Given the description of an element on the screen output the (x, y) to click on. 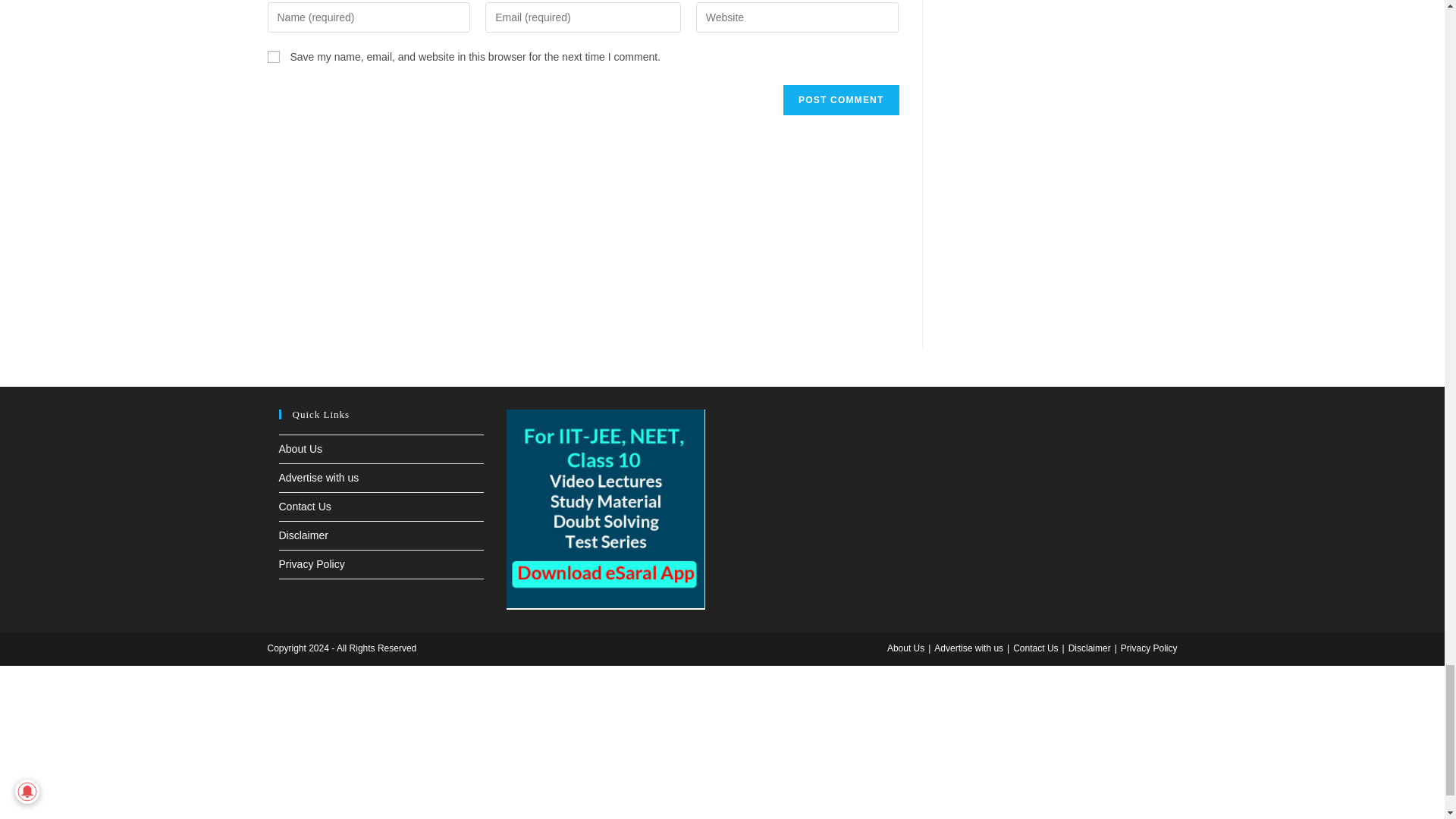
yes (272, 56)
Post Comment (840, 100)
